Given the description of an element on the screen output the (x, y) to click on. 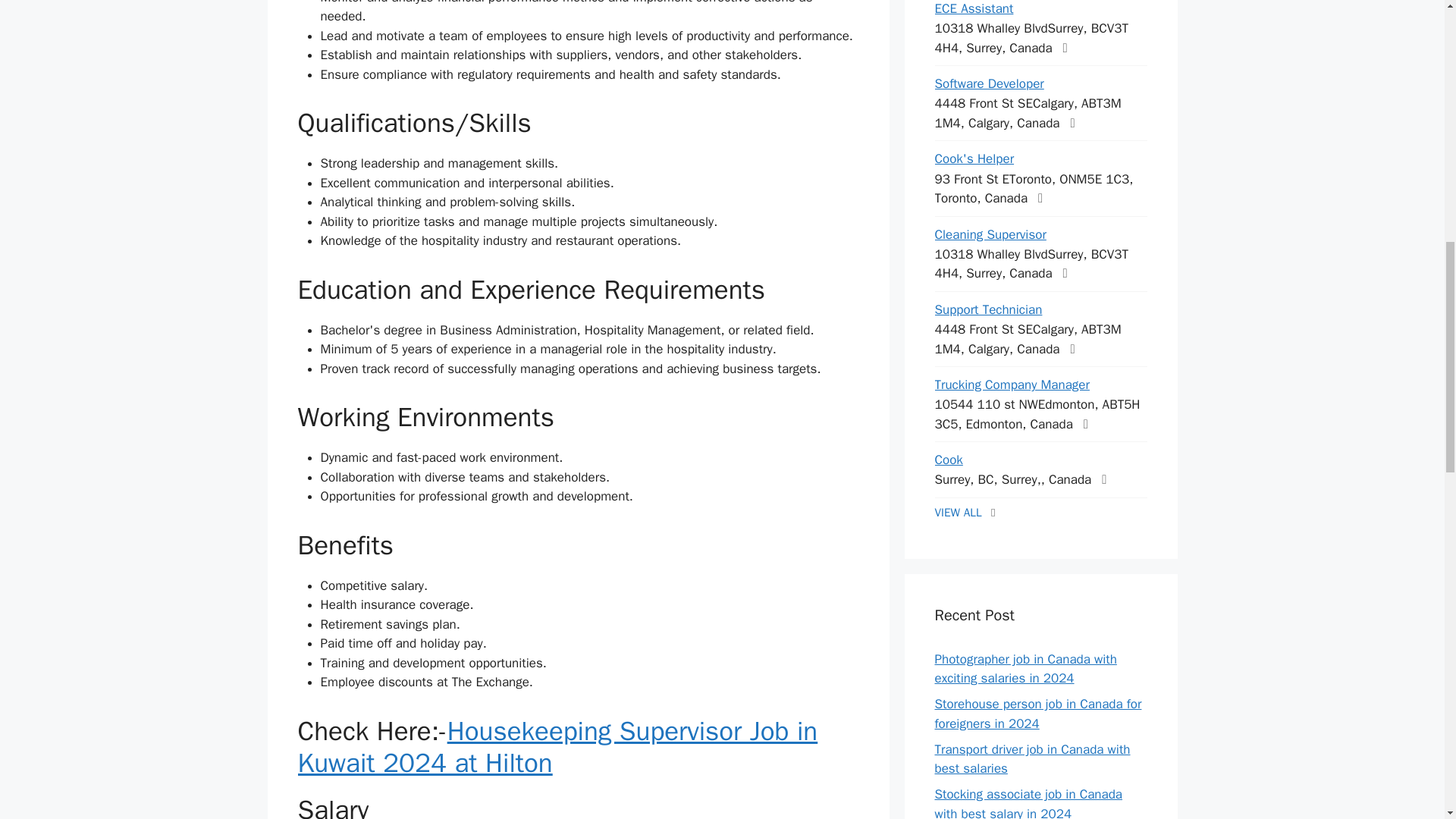
Cook's Helper (973, 158)
Trucking Company Manager (1011, 384)
Support Technician (988, 309)
ECE Assistant (973, 8)
Cook (948, 459)
Stocking associate job in Canada with best salary in 2024 (1028, 802)
Photographer job in Canada with exciting salaries in 2024 (1025, 669)
VIEW ALL (957, 512)
Storehouse person job in Canada for foreigners in 2024 (1037, 714)
Cleaning Supervisor (989, 234)
Housekeeping Supervisor Job in Kuwait 2024 at Hilton (556, 746)
Software Developer (988, 83)
Transport driver job in Canada with best salaries (1031, 759)
